Given the description of an element on the screen output the (x, y) to click on. 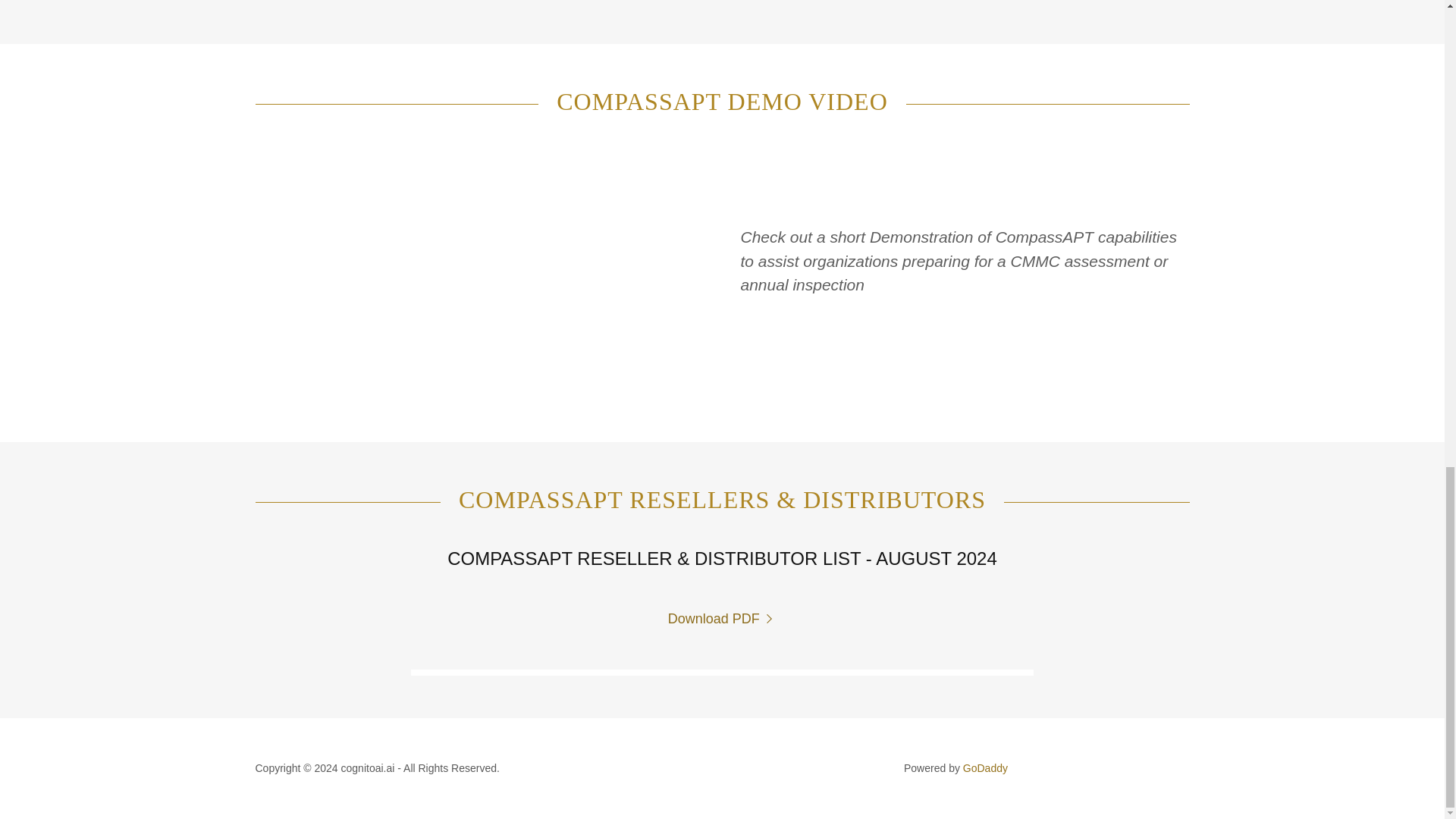
Download PDF (722, 618)
Accept (1274, 47)
GoDaddy (984, 767)
